Given the description of an element on the screen output the (x, y) to click on. 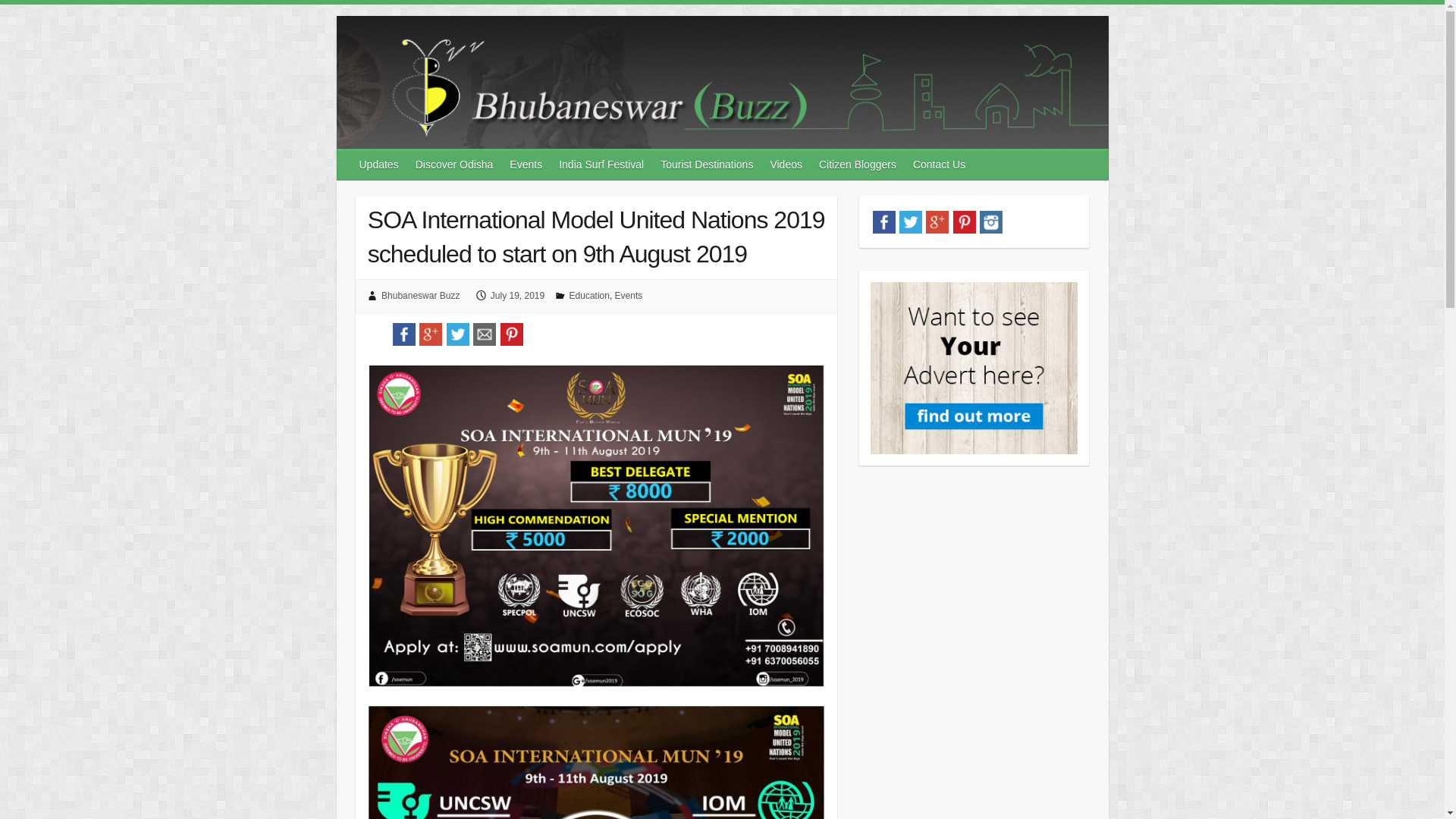
Instagram (991, 219)
Updates (379, 164)
Share via Google (430, 331)
Events (526, 164)
July 19, 2019 (517, 295)
Share via Twitter (457, 331)
Videos (785, 164)
Discover Odisha (454, 164)
Pinterest (963, 219)
1:44 am (517, 295)
Tourist Destinations (706, 164)
Events (628, 295)
Share via Pinterest (511, 331)
Share via Facebook (403, 331)
Contact Us (939, 164)
